Given the description of an element on the screen output the (x, y) to click on. 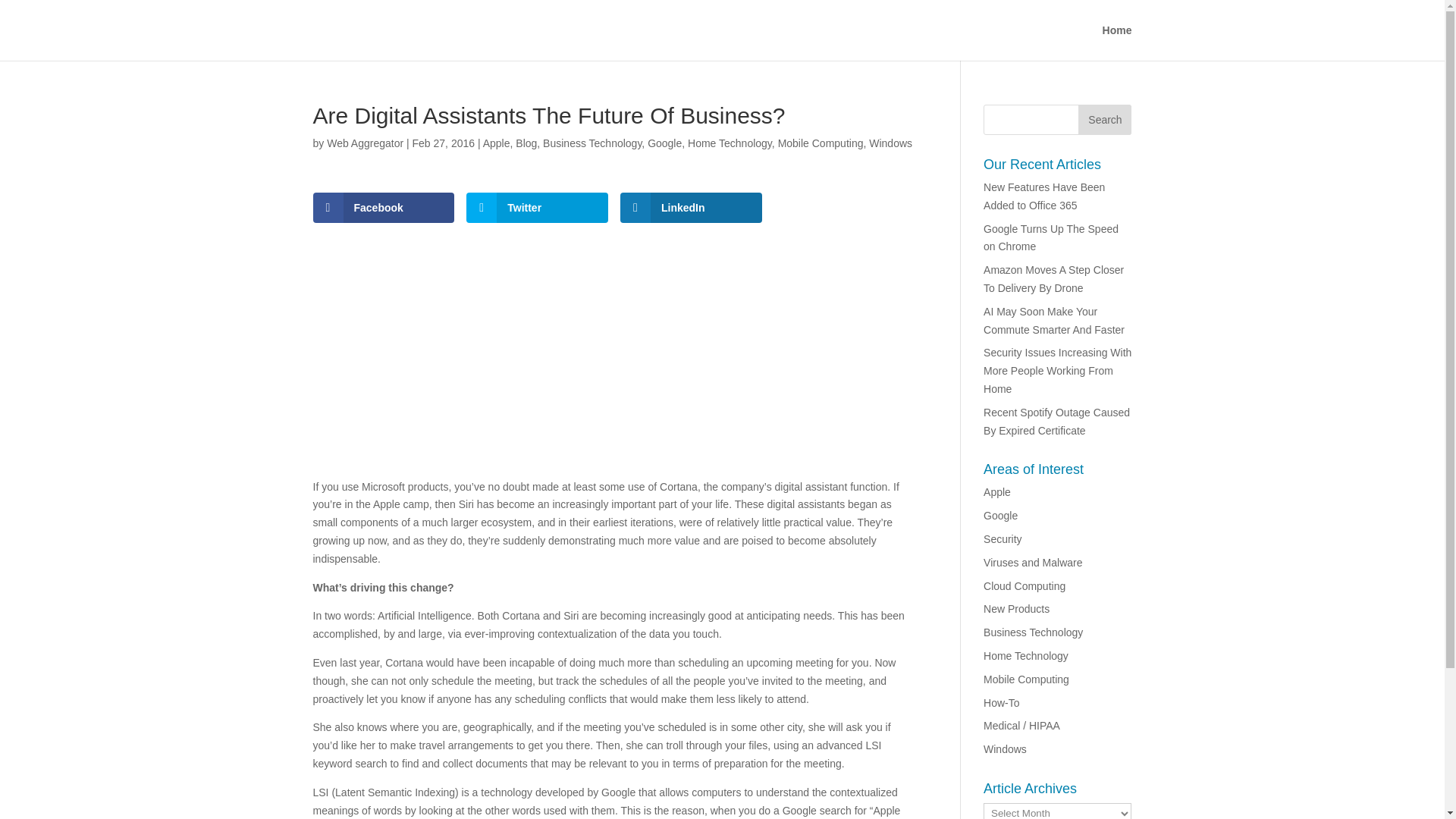
Apple (997, 491)
How-To (1001, 702)
Blog (526, 143)
Cloud Computing (1024, 585)
New Products (1016, 608)
Google (664, 143)
Google Turns Up The Speed on Chrome (1051, 237)
Amazon Moves A Step Closer To Delivery By Drone (1054, 278)
Home Technology (729, 143)
Facebook (383, 207)
